Given the description of an element on the screen output the (x, y) to click on. 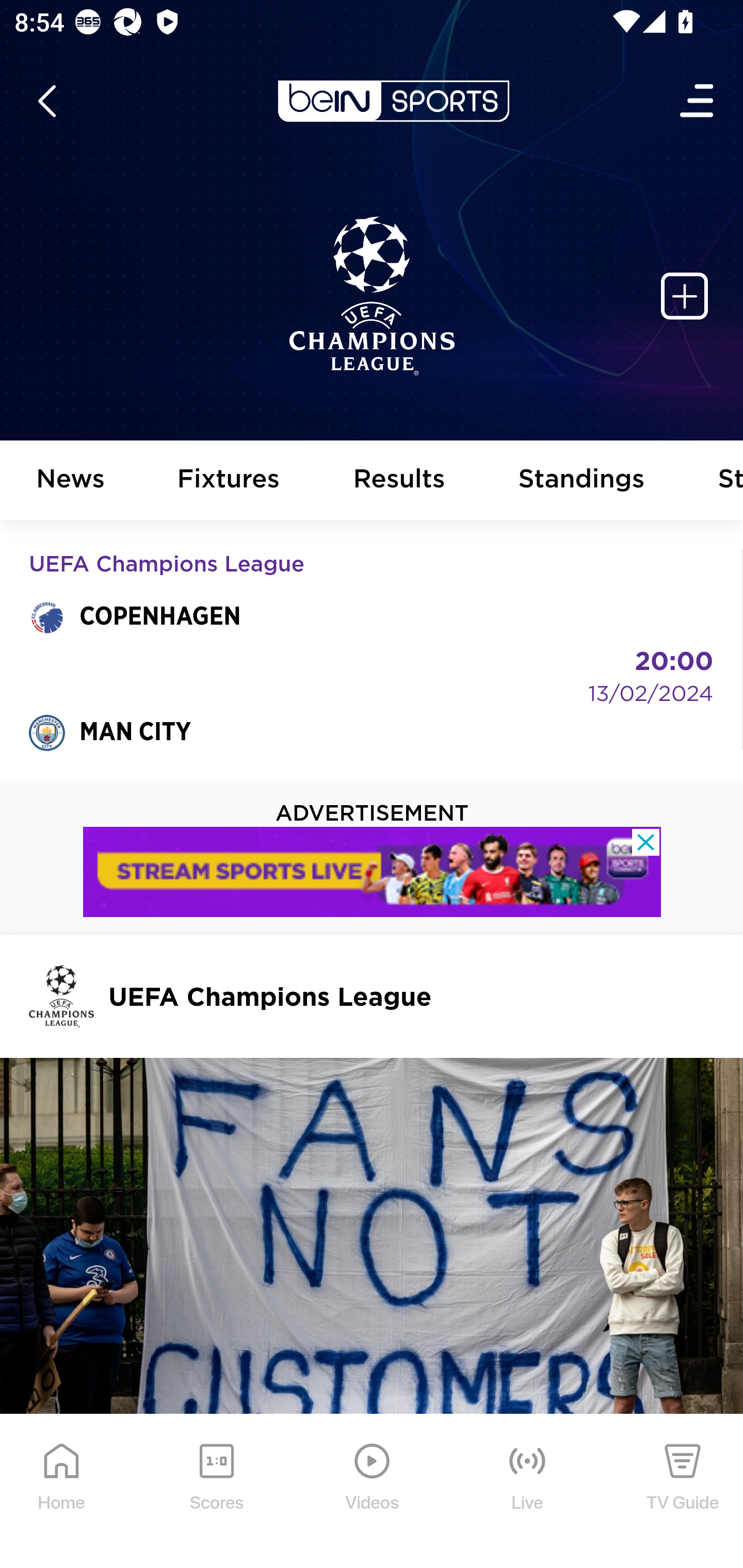
en-my?platform=mobile_android bein logo white (392, 101)
icon back (46, 101)
Open Menu Icon (697, 101)
News (70, 480)
Fixtures (229, 480)
Results (399, 480)
Standings (581, 480)
Home Home Icon Home (61, 1491)
Scores Scores Icon Scores (216, 1491)
Videos Videos Icon Videos (372, 1491)
TV Guide TV Guide Icon TV Guide (682, 1491)
